Given the description of an element on the screen output the (x, y) to click on. 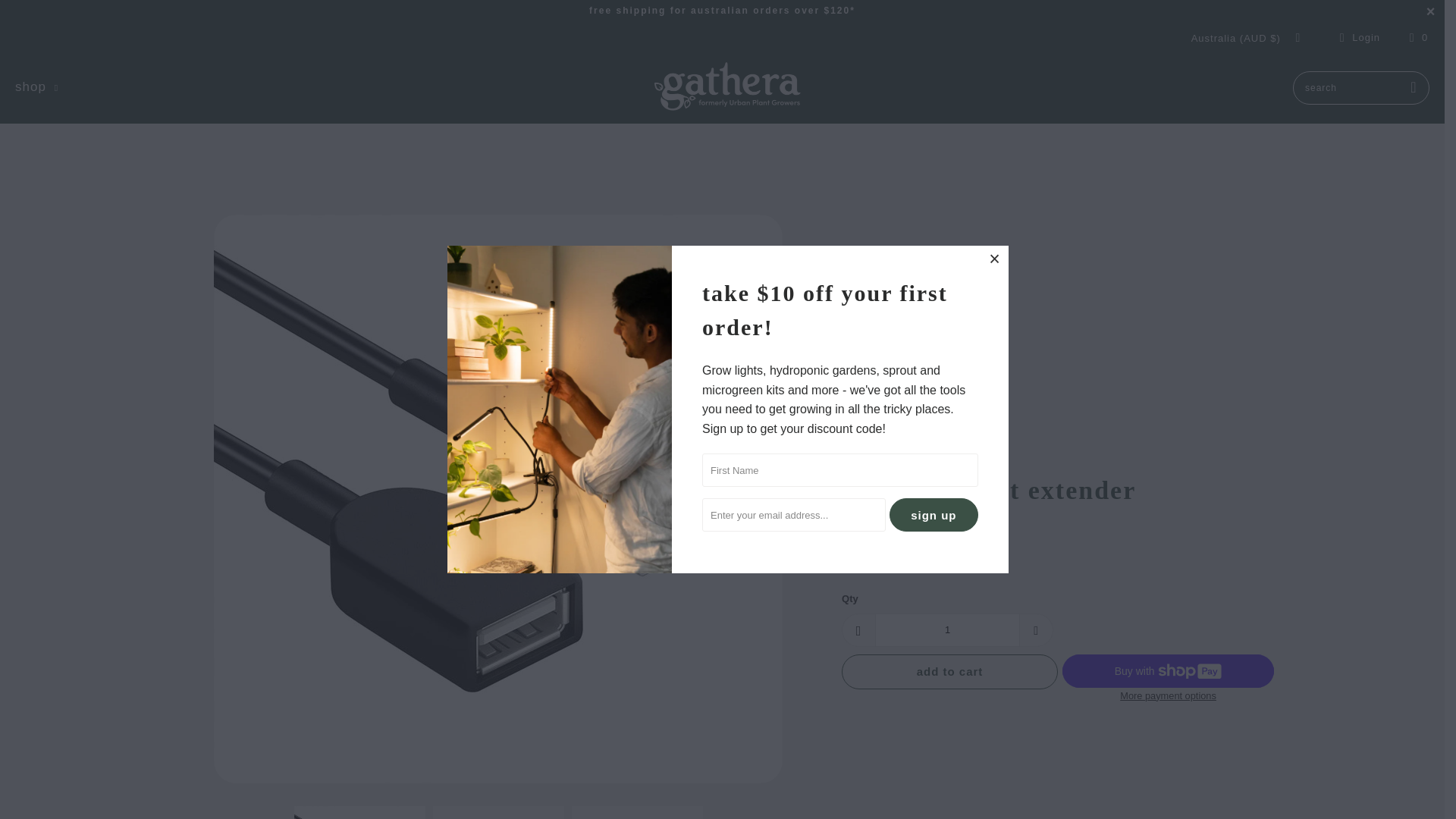
My Account  (1357, 37)
1 (947, 630)
Sign Up (933, 514)
gathera (727, 88)
